Given the description of an element on the screen output the (x, y) to click on. 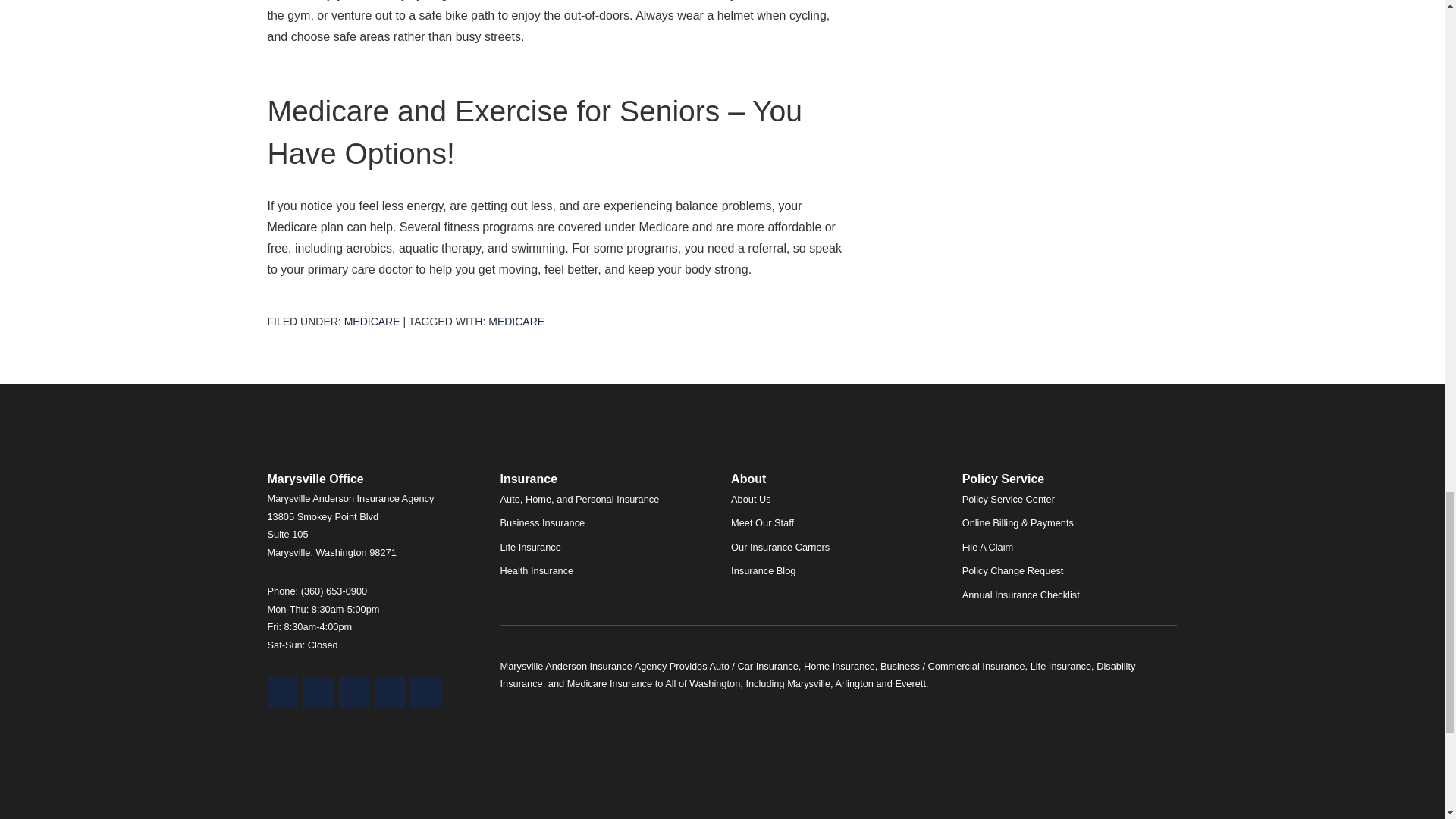
Instagram (424, 692)
Medicare (515, 321)
Yelp (317, 692)
Medicare (371, 321)
LinkedIn (389, 692)
Facebook (352, 692)
Google Maps (281, 692)
